Given the description of an element on the screen output the (x, y) to click on. 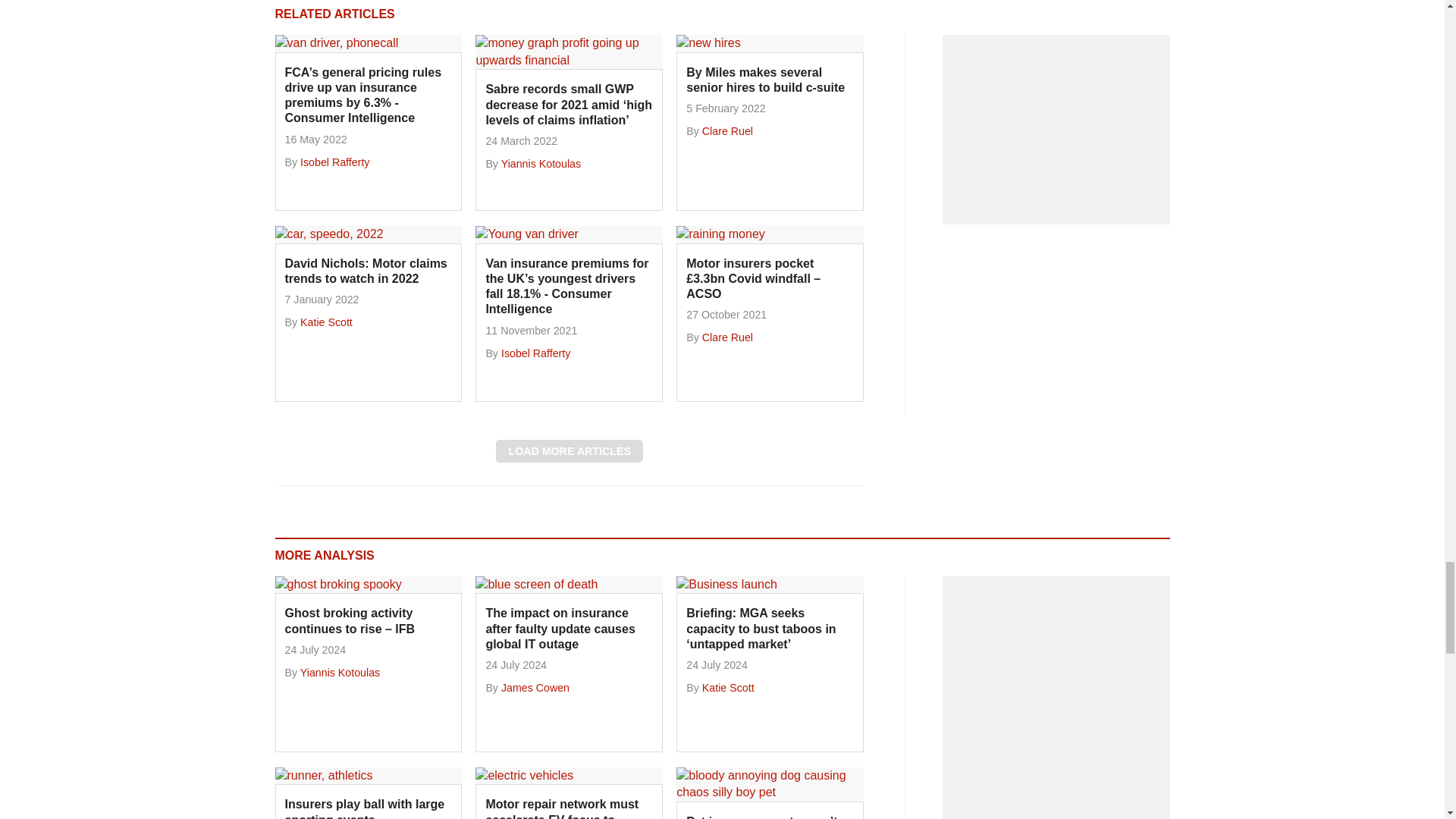
3rd party ad content (1055, 129)
3rd party ad content (1055, 697)
